Given the description of an element on the screen output the (x, y) to click on. 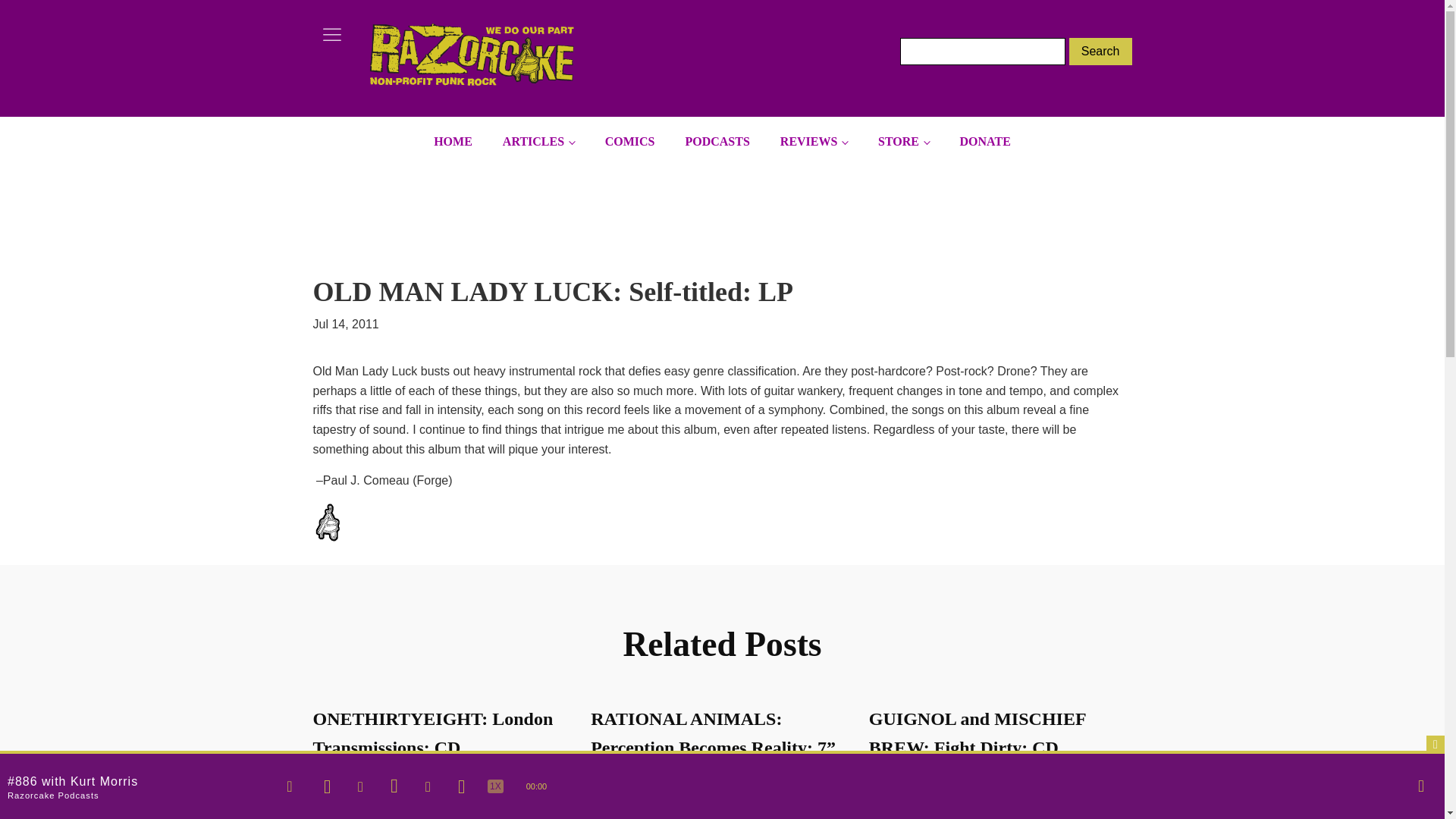
ARTICLES (538, 142)
PODCASTS (716, 142)
HOME (453, 142)
Search (1100, 51)
COMICS (629, 142)
Search (1100, 51)
Volume (1420, 786)
